Given the description of an element on the screen output the (x, y) to click on. 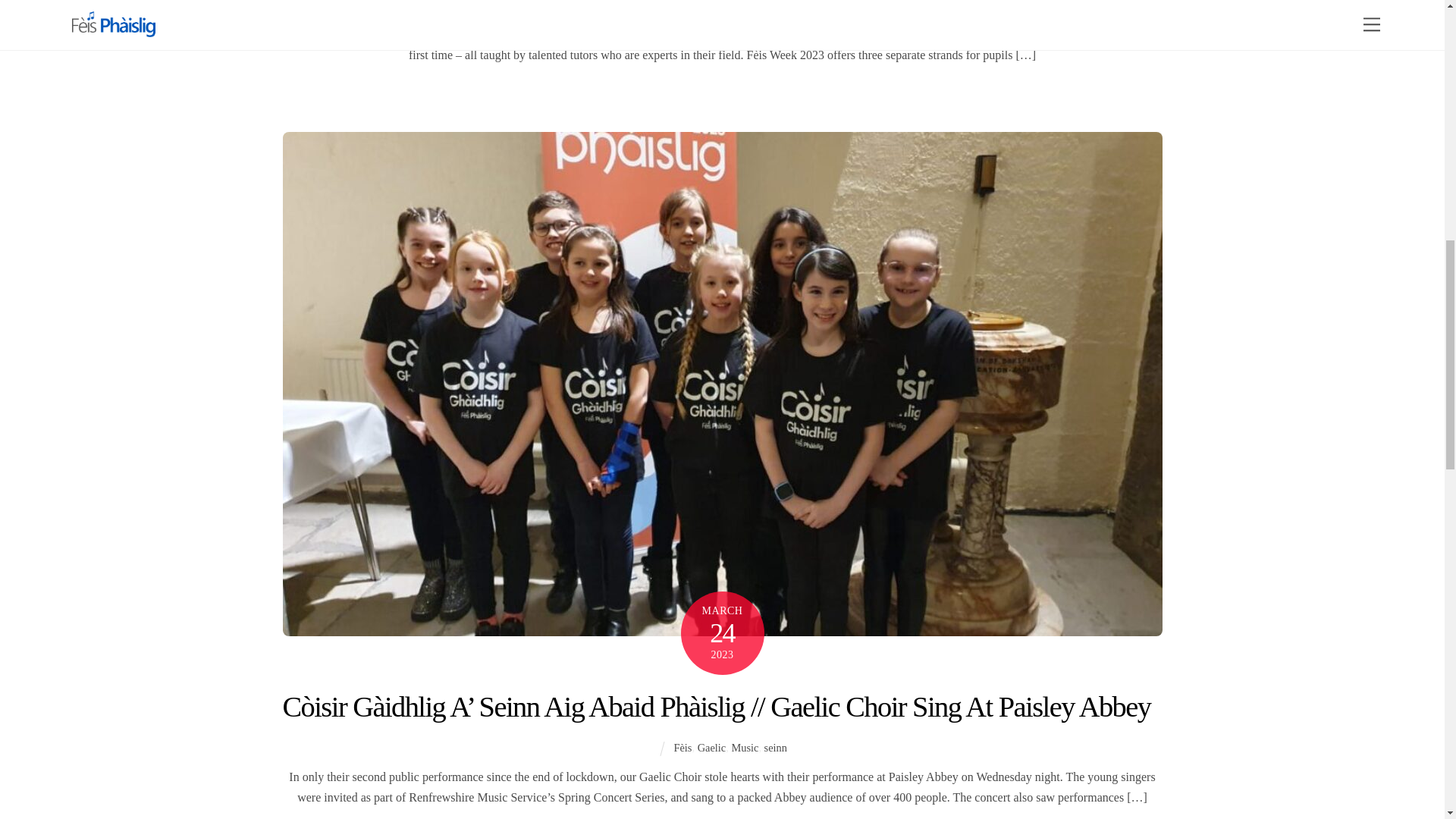
drama (681, 5)
Music (772, 5)
Gaelic (737, 5)
arts (654, 5)
seinn (801, 5)
